Given the description of an element on the screen output the (x, y) to click on. 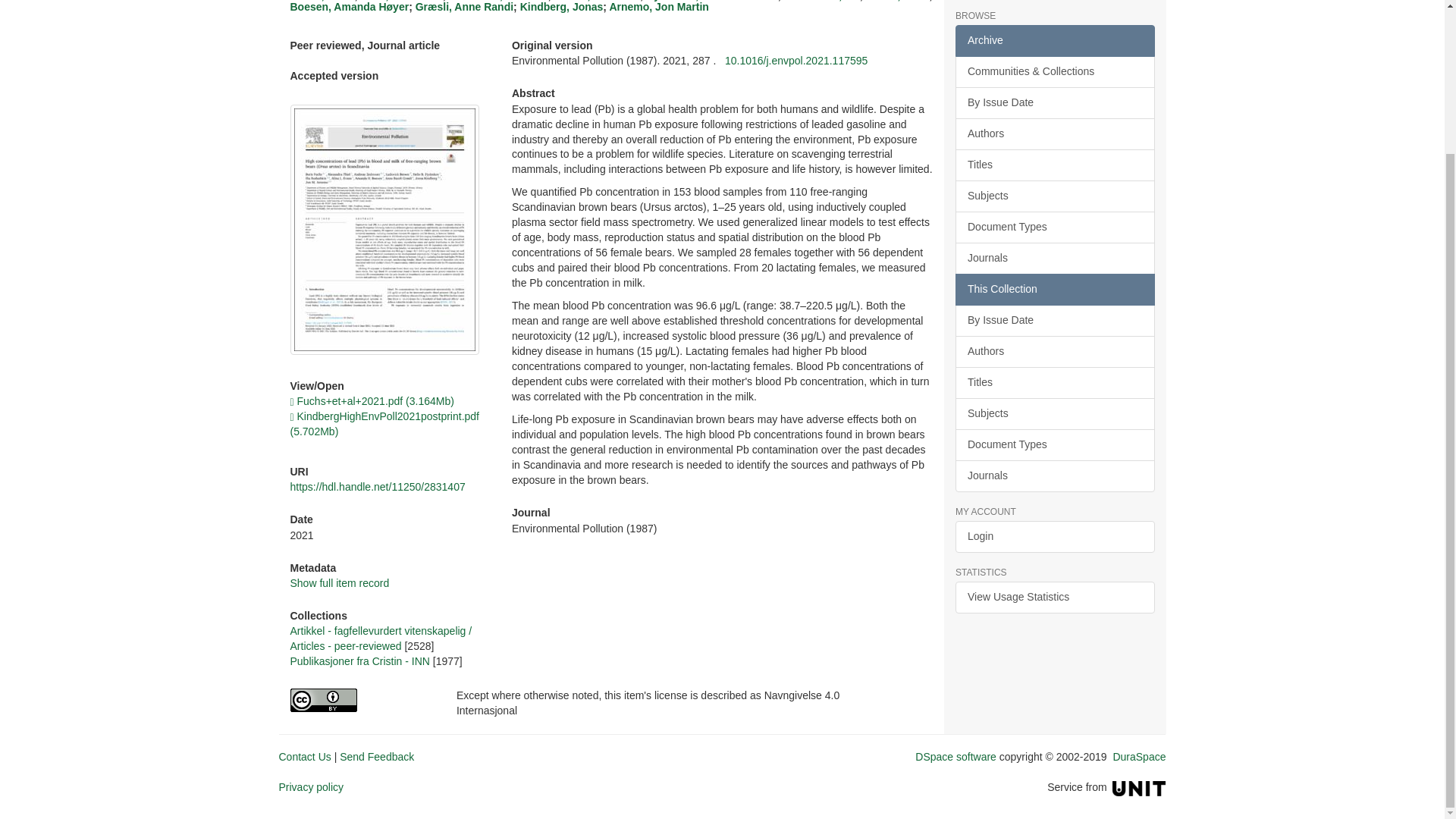
Kindberg, Jonas (561, 6)
Brown, Ludovick (597, 0)
Hydeskov, Helle Bernstorf (711, 0)
Evans, Alina (897, 0)
Rodushkin, Ilia (822, 0)
Zedrosser, Andreas (497, 0)
Fuchs, Boris (321, 0)
Navngivelse 4.0 Internasjonal (360, 699)
Publikasjoner fra Cristin - INN (359, 661)
Unit (1139, 787)
